Given the description of an element on the screen output the (x, y) to click on. 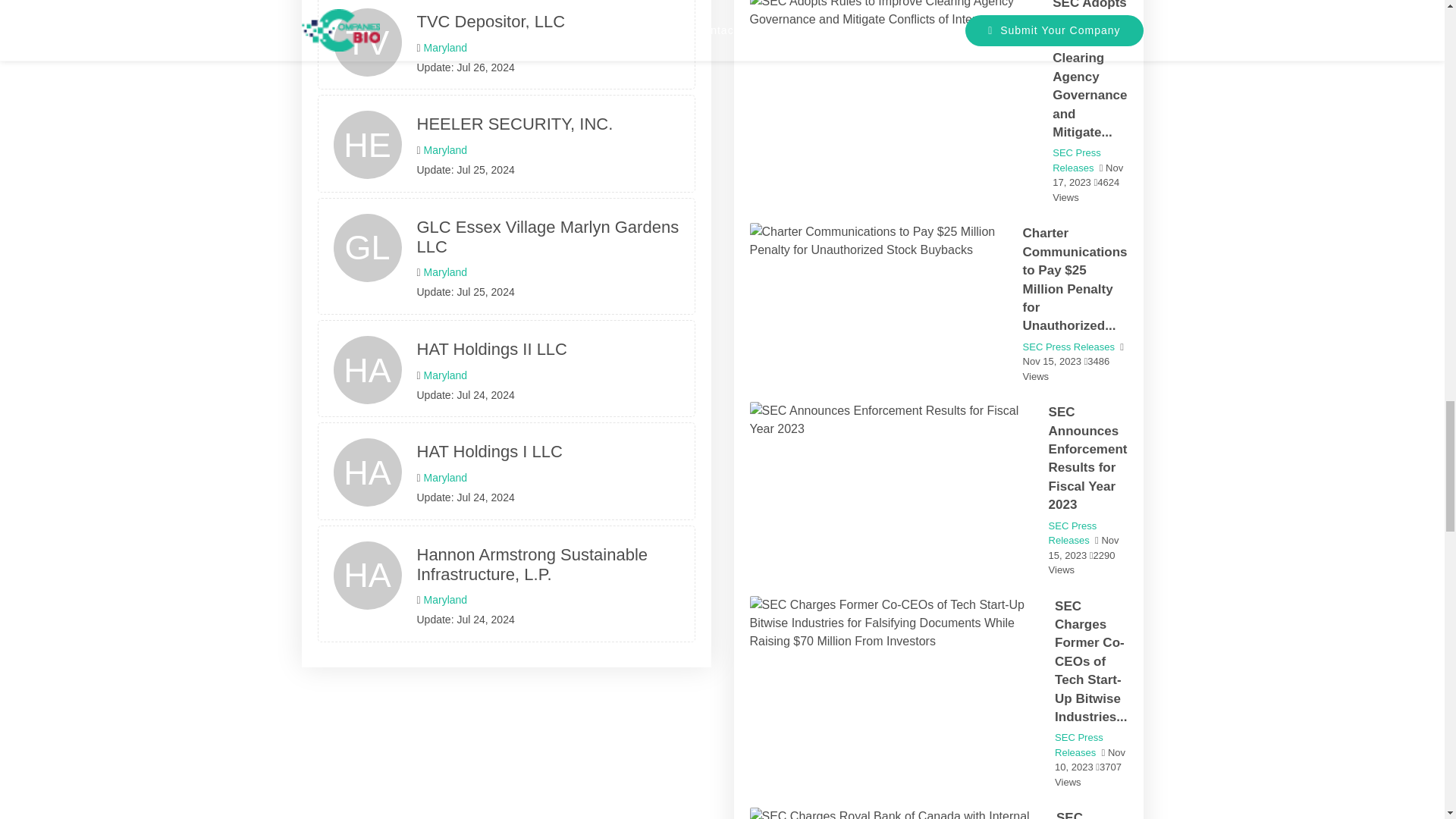
TVC Depositor, LLC (491, 21)
HEELER SECURITY, INC. (367, 134)
HEELER SECURITY, INC. (514, 123)
List Companies at Maryland (445, 47)
Maryland (445, 47)
TVC Depositor, LLC (368, 32)
HEELER SECURITY, INC. (514, 123)
TV (368, 32)
TVC Depositor, LLC (491, 21)
HE (367, 134)
Maryland (445, 150)
GL (366, 237)
GLC Essex Village Marlyn Gardens LLC (547, 236)
